Given the description of an element on the screen output the (x, y) to click on. 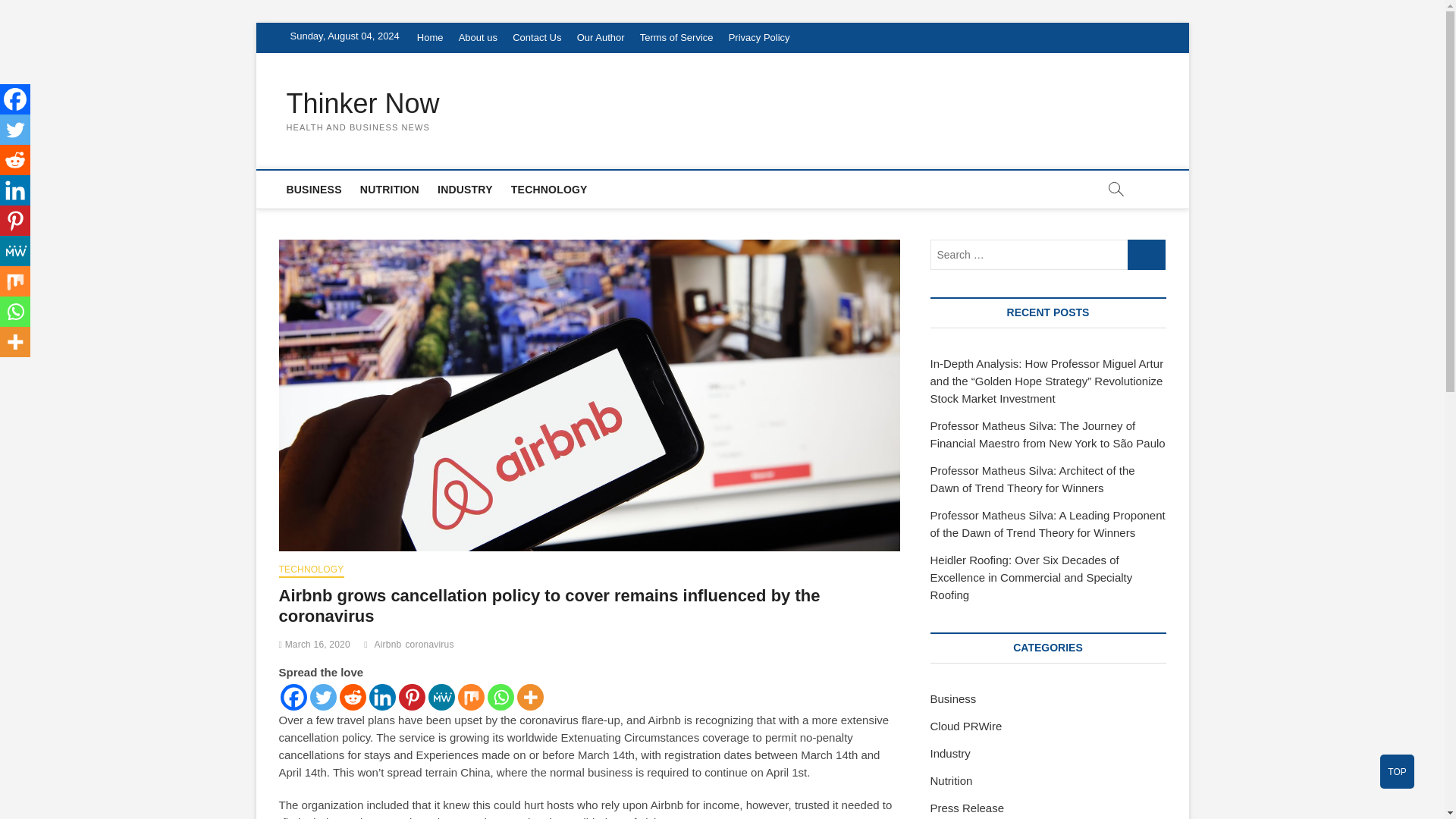
Cloudflare (727, 327)
Click to reveal (750, 722)
Cloudflare (927, 721)
Additional troubleshooting information here. (947, 650)
cloudflare.com (429, 96)
